Given the description of an element on the screen output the (x, y) to click on. 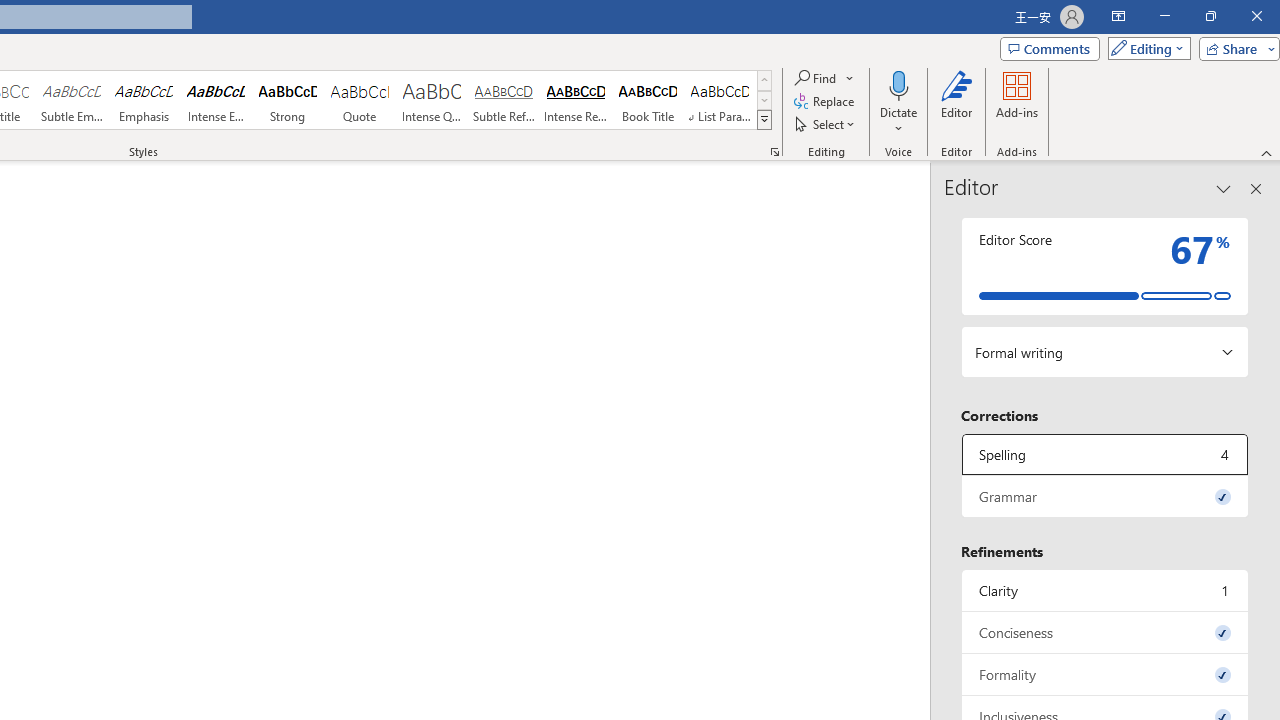
Intense Quote (431, 100)
Subtle Emphasis (71, 100)
Grammar, 0 issues. Press space or enter to review items. (1105, 495)
Quote (359, 100)
